Given the description of an element on the screen output the (x, y) to click on. 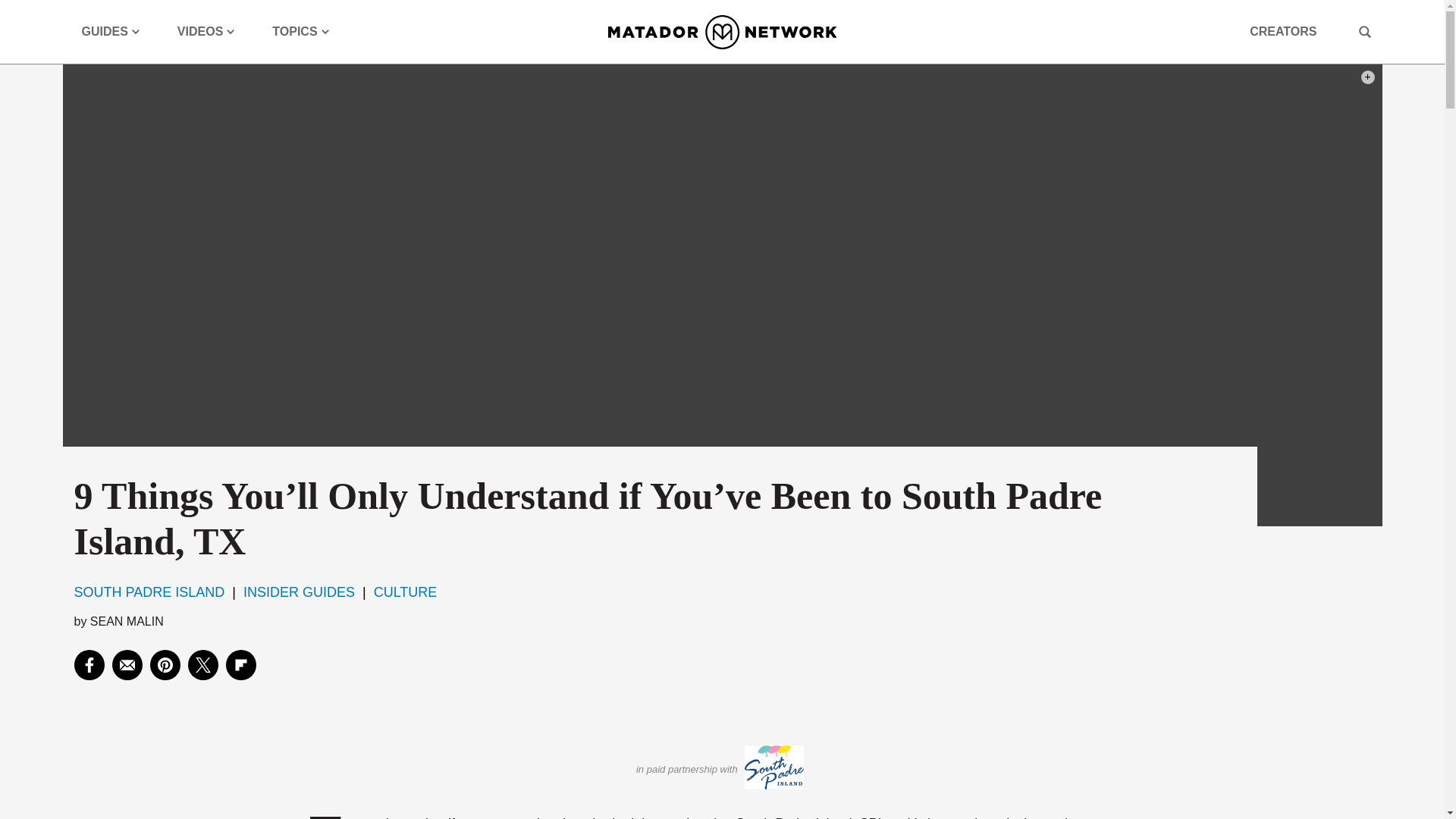
TOPICS (300, 31)
GUIDES (110, 31)
VIDEOS (205, 31)
CREATORS (1282, 31)
